Given the description of an element on the screen output the (x, y) to click on. 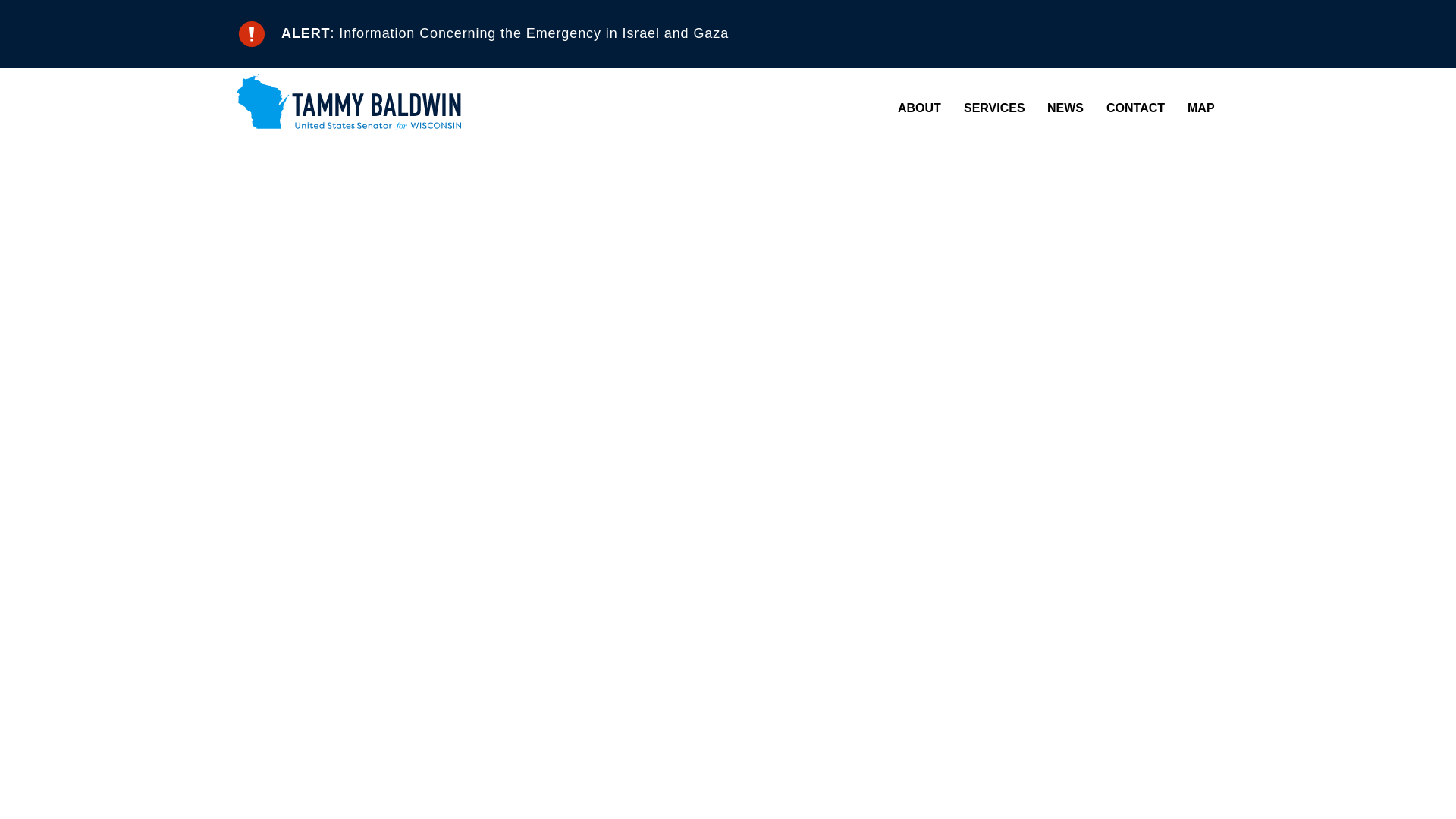
SERVICES (994, 107)
MAP (1201, 107)
ABOUT (919, 107)
Help With A Federal Agency (1077, 137)
About Tammy (1011, 137)
NEWS (1064, 107)
CONTACT (1135, 107)
Skip to content (26, 26)
Contact Tammy (1219, 137)
Press Releases (1160, 137)
